Given the description of an element on the screen output the (x, y) to click on. 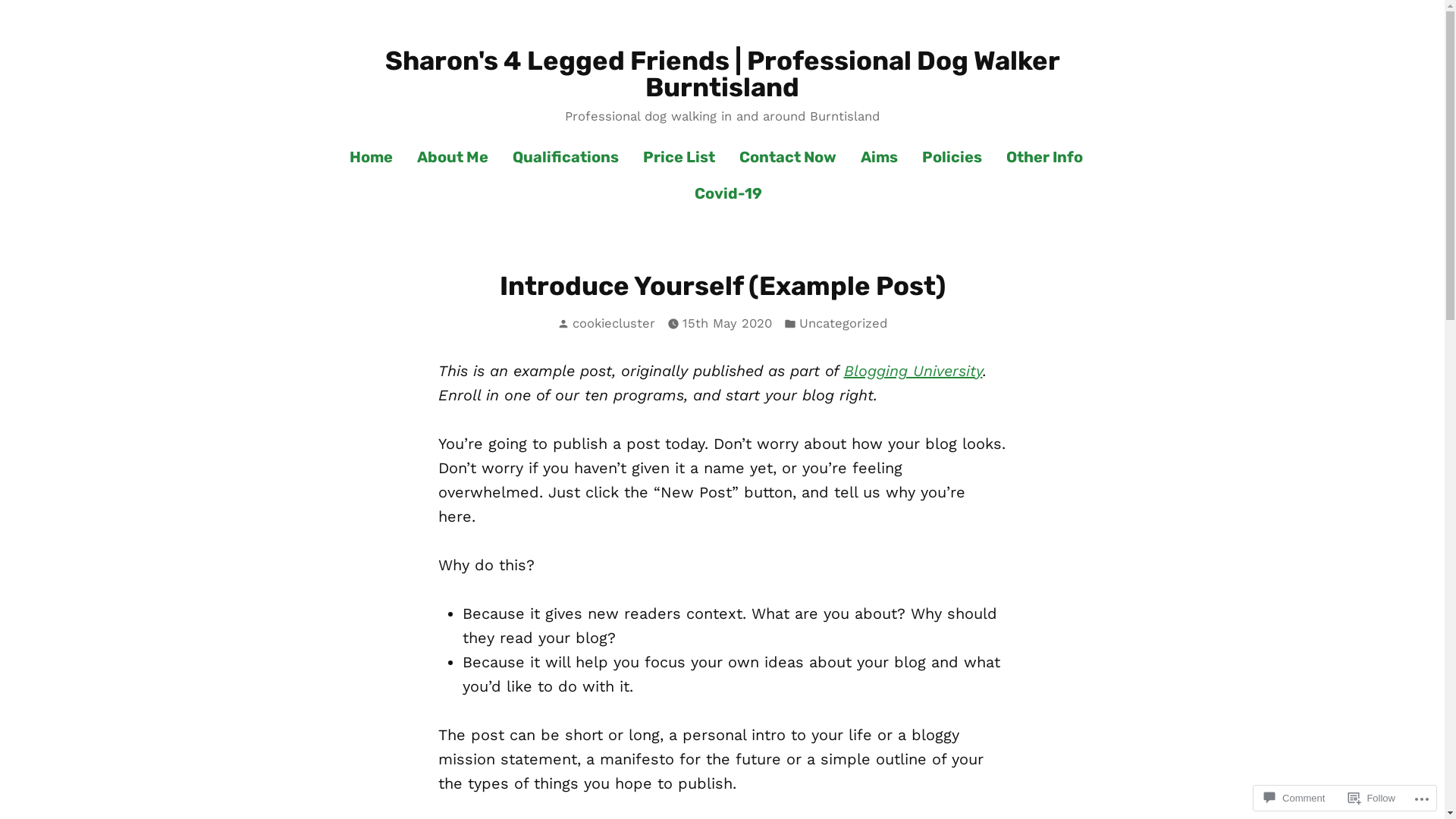
Follow Element type: text (1371, 797)
Policies Element type: text (952, 157)
Contact Now Element type: text (787, 157)
Price List Element type: text (678, 157)
Home Element type: text (376, 157)
cookiecluster Element type: text (613, 323)
Blogging University Element type: text (912, 370)
About Me Element type: text (452, 157)
Uncategorized Element type: text (843, 323)
Qualifications Element type: text (565, 157)
Aims Element type: text (879, 157)
Comment Element type: text (1294, 797)
Other Info Element type: text (1044, 157)
Covid-19 Element type: text (722, 192)
15th May 2020 Element type: text (726, 323)
